Given the description of an element on the screen output the (x, y) to click on. 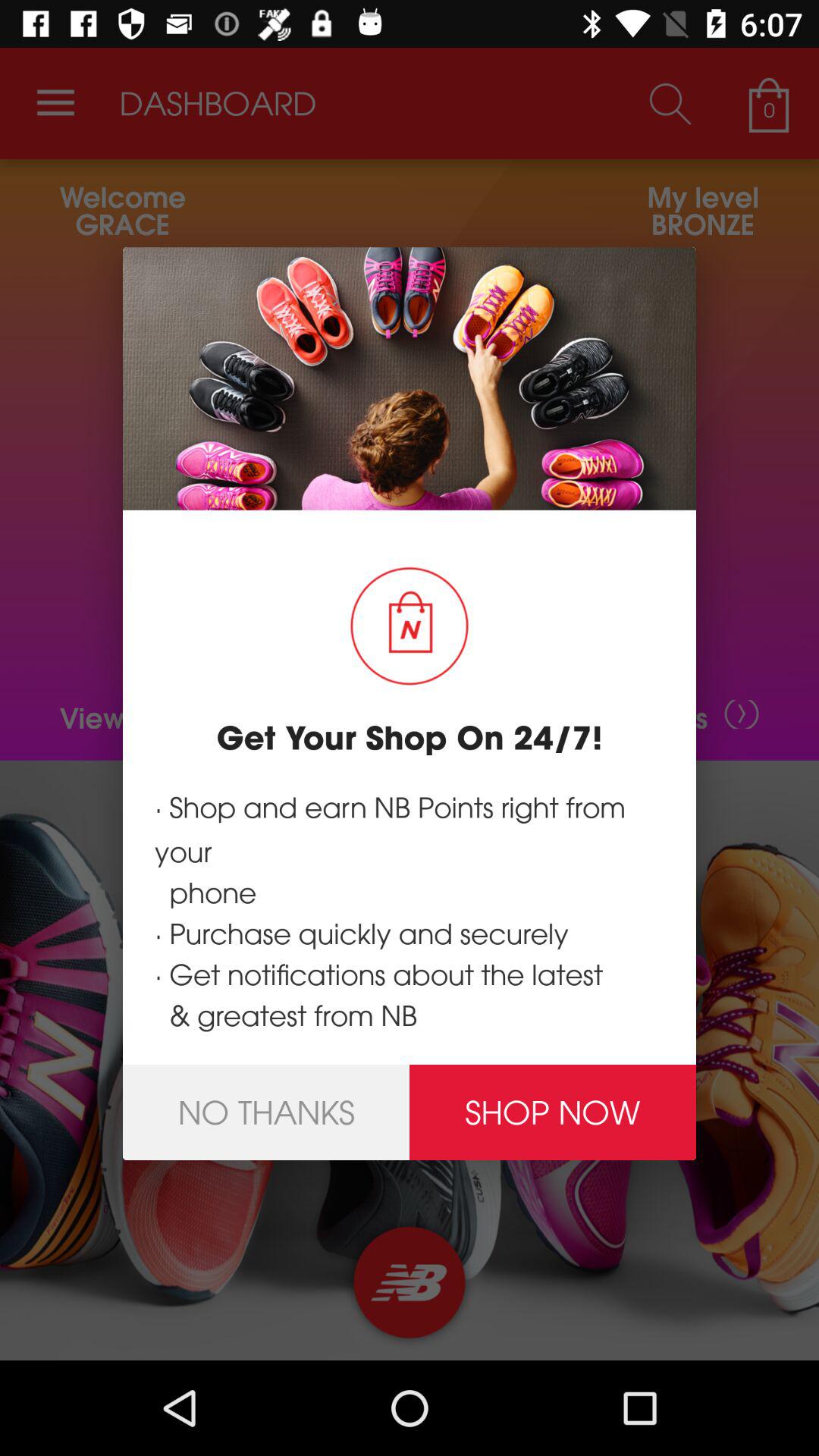
scroll to no thanks item (265, 1112)
